Given the description of an element on the screen output the (x, y) to click on. 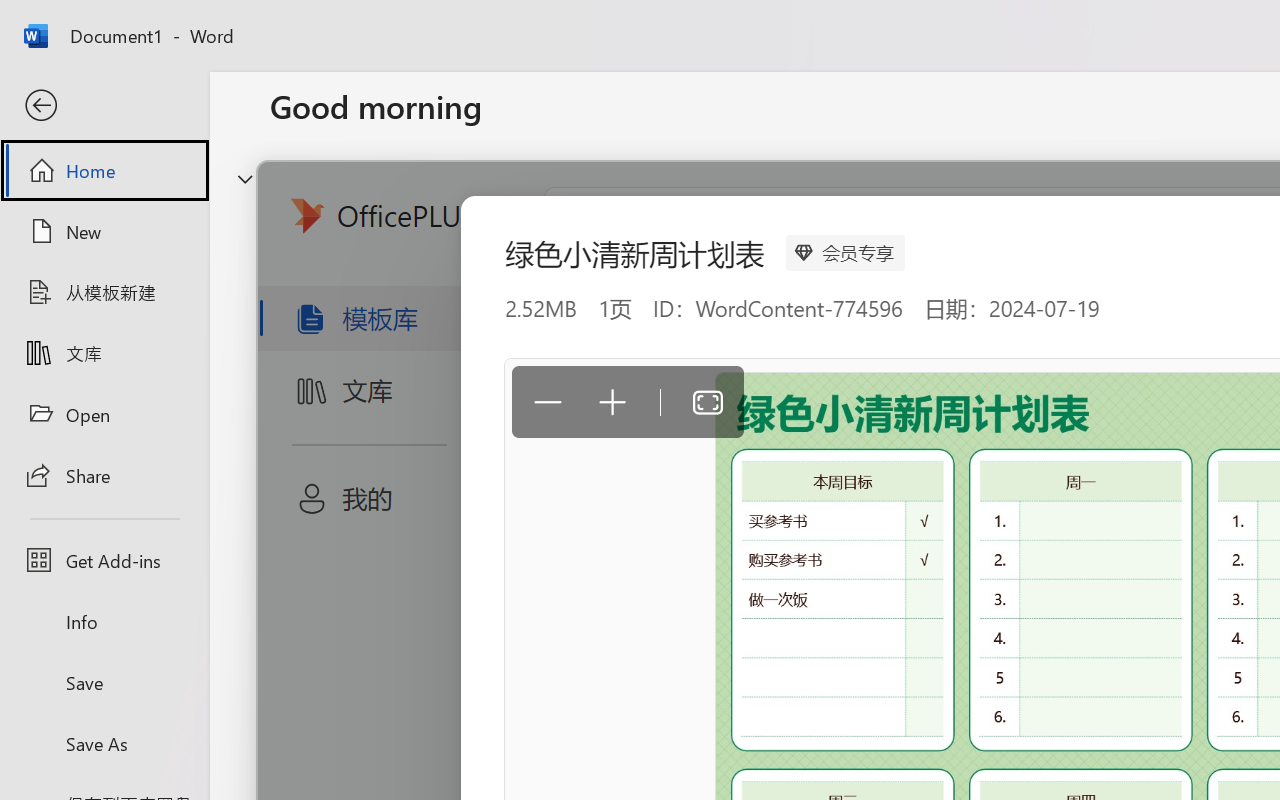
Back (104, 106)
Save As (104, 743)
Get Add-ins (104, 560)
Recent (316, 636)
